Given the description of an element on the screen output the (x, y) to click on. 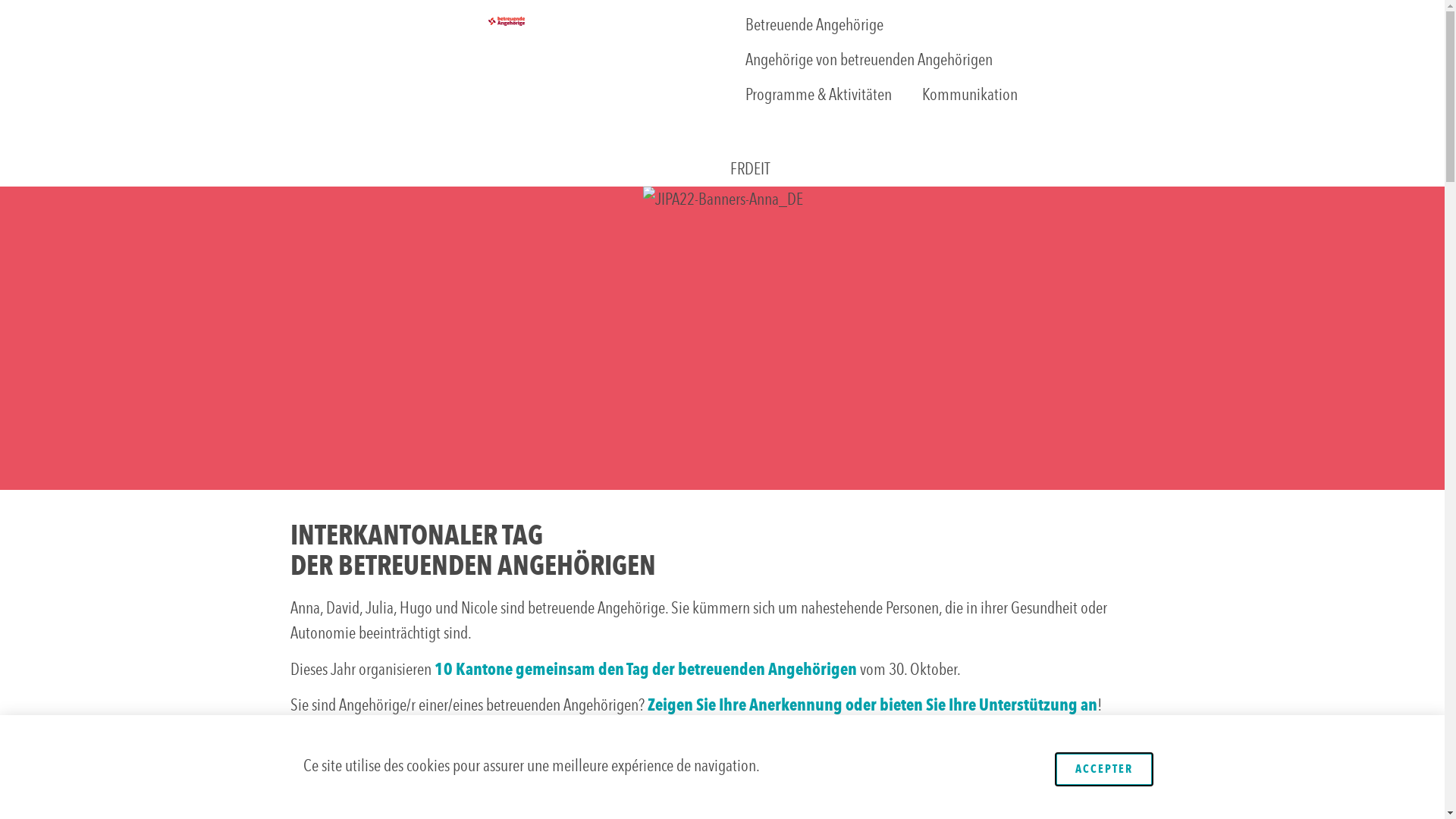
IT Element type: text (764, 167)
ACCEPTER Element type: text (1103, 769)
Mehr dazu Element type: text (324, 735)
DE Element type: text (752, 167)
FR Element type: text (736, 167)
Kommunikation Element type: text (969, 94)
Zeigen Sie Ihre Anerkennung Element type: text (744, 704)
